Given the description of an element on the screen output the (x, y) to click on. 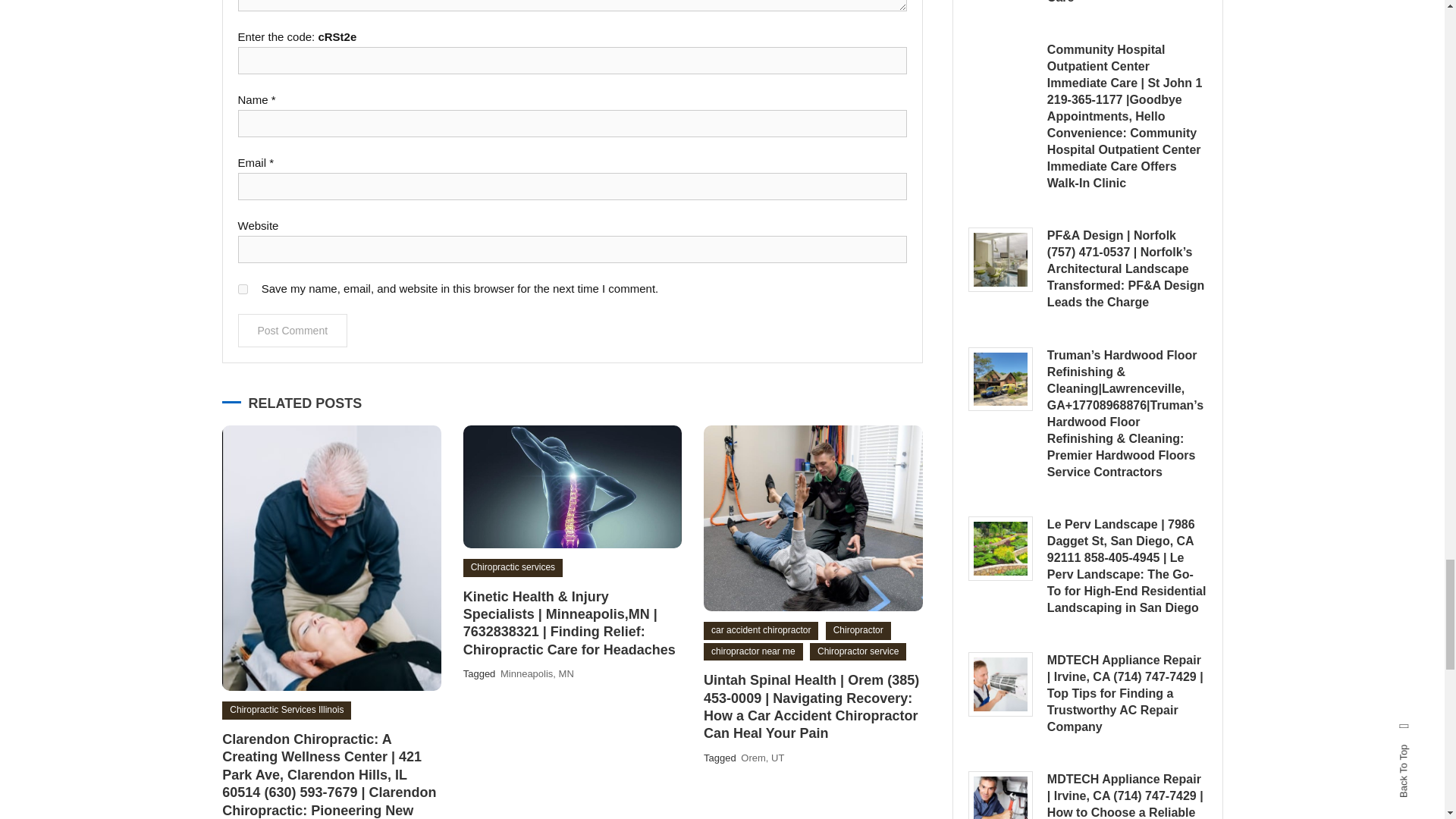
Post Comment (292, 330)
yes (242, 289)
